Given the description of an element on the screen output the (x, y) to click on. 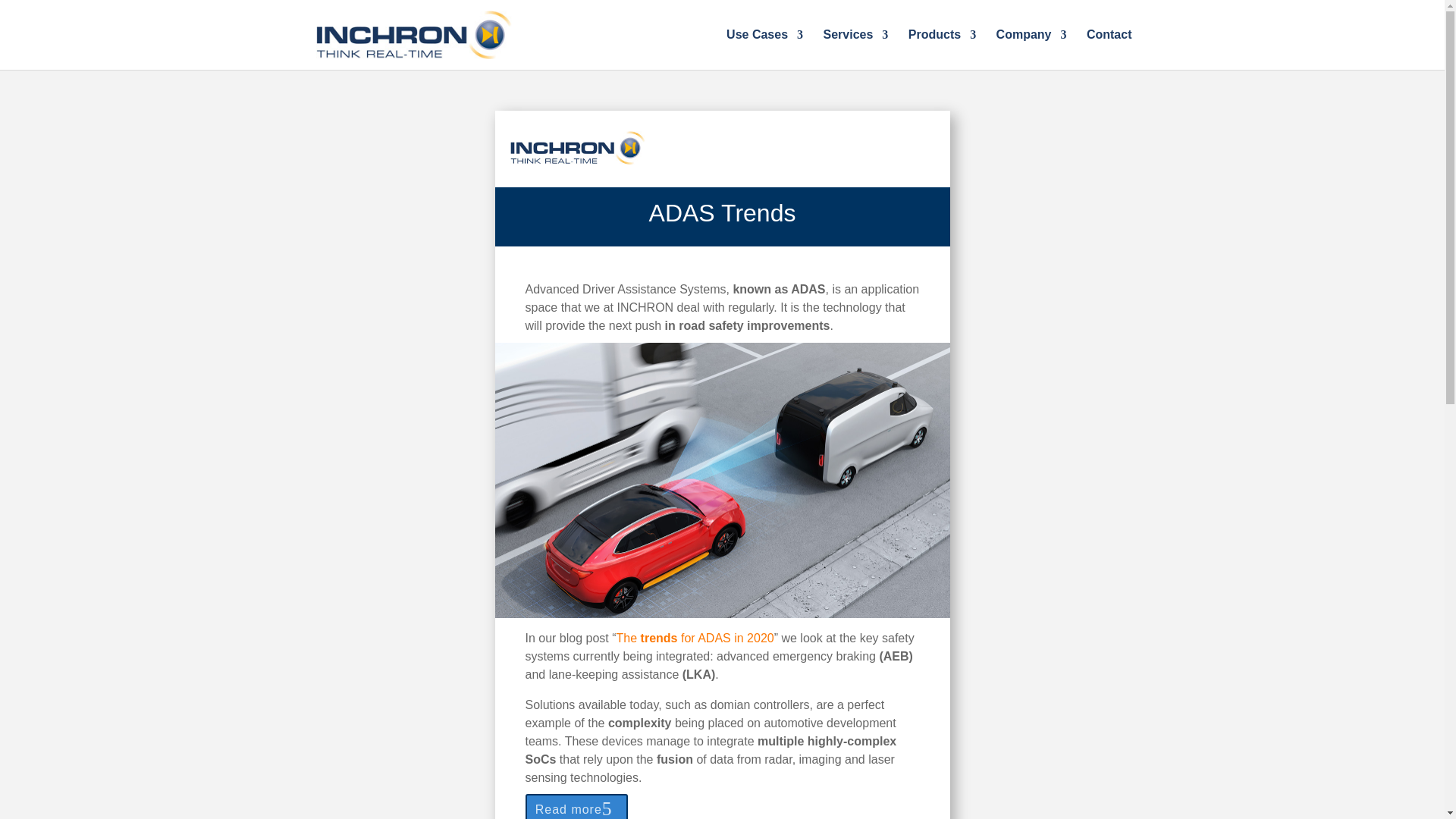
Products (941, 49)
Contact (1109, 49)
Services (855, 49)
Company (1031, 49)
Use Cases (764, 49)
